Given the description of an element on the screen output the (x, y) to click on. 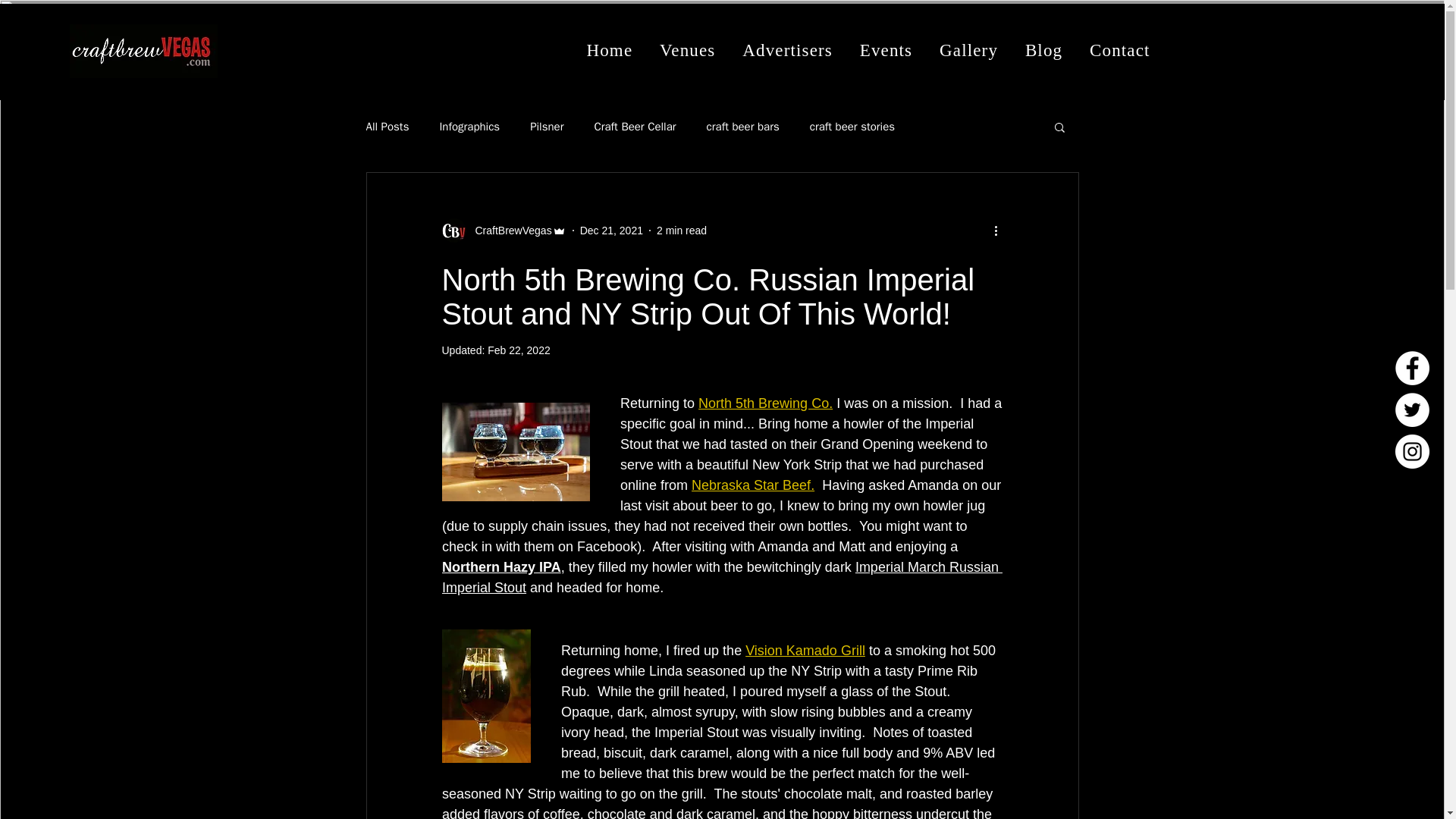
Contact (1119, 50)
2 min read (681, 230)
CraftBrewVegas (508, 230)
Blog (1043, 50)
Dec 21, 2021 (611, 230)
Events (885, 50)
Nebraska Star Beef. (752, 485)
craft beer stories (852, 126)
Craft Beer Cellar (634, 126)
Home (609, 50)
